Given the description of an element on the screen output the (x, y) to click on. 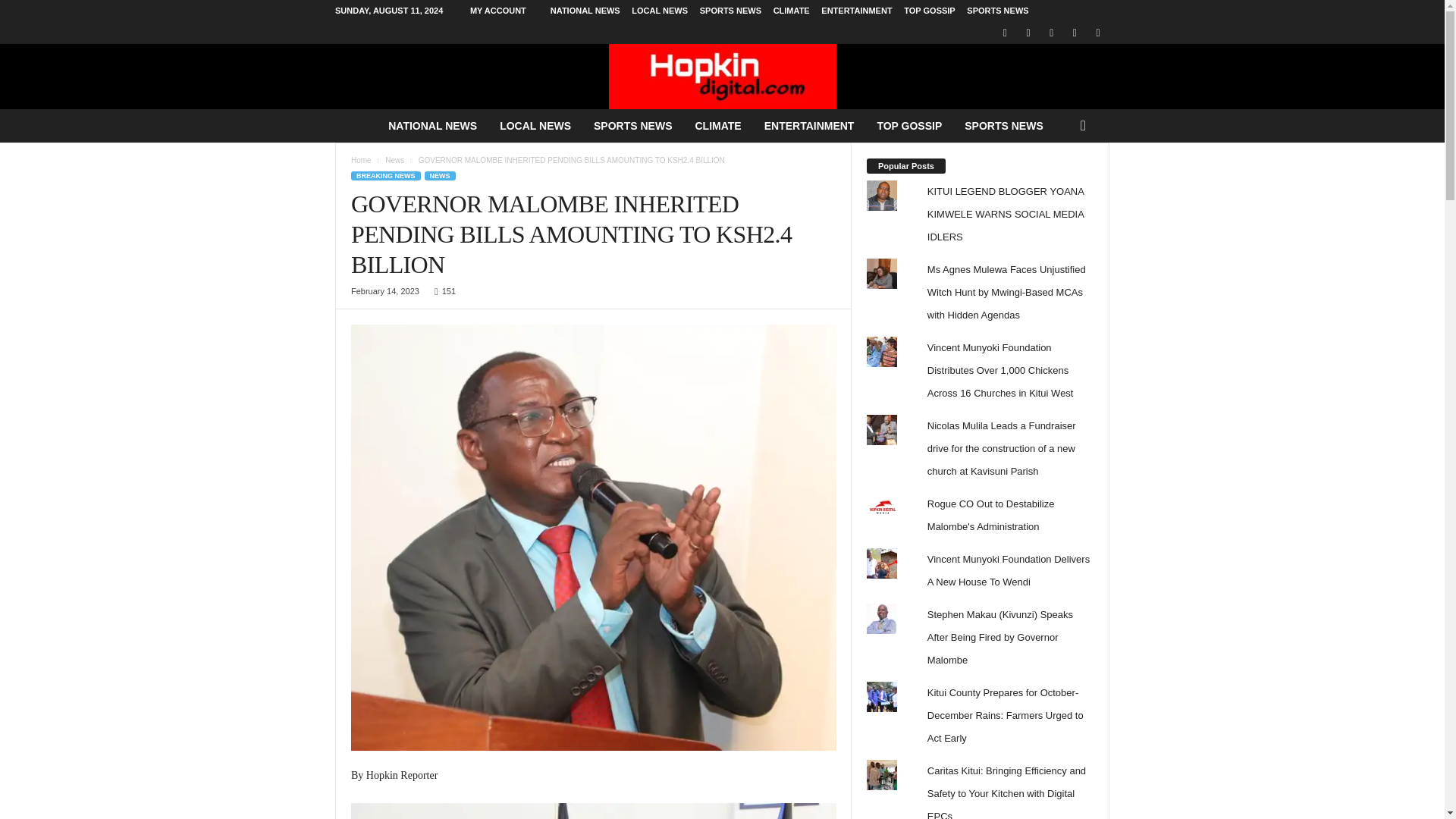
NATIONAL NEWS (432, 125)
SPORTS NEWS (996, 10)
ENTERTAINMENT (856, 10)
View all posts in News (394, 160)
LOCAL NEWS (659, 10)
THE FUTURE IS DIGITAL (721, 76)
CLIMATE (791, 10)
TOP GOSSIP (929, 10)
LOCAL NEWS (534, 125)
SPORTS NEWS (632, 125)
